Given the description of an element on the screen output the (x, y) to click on. 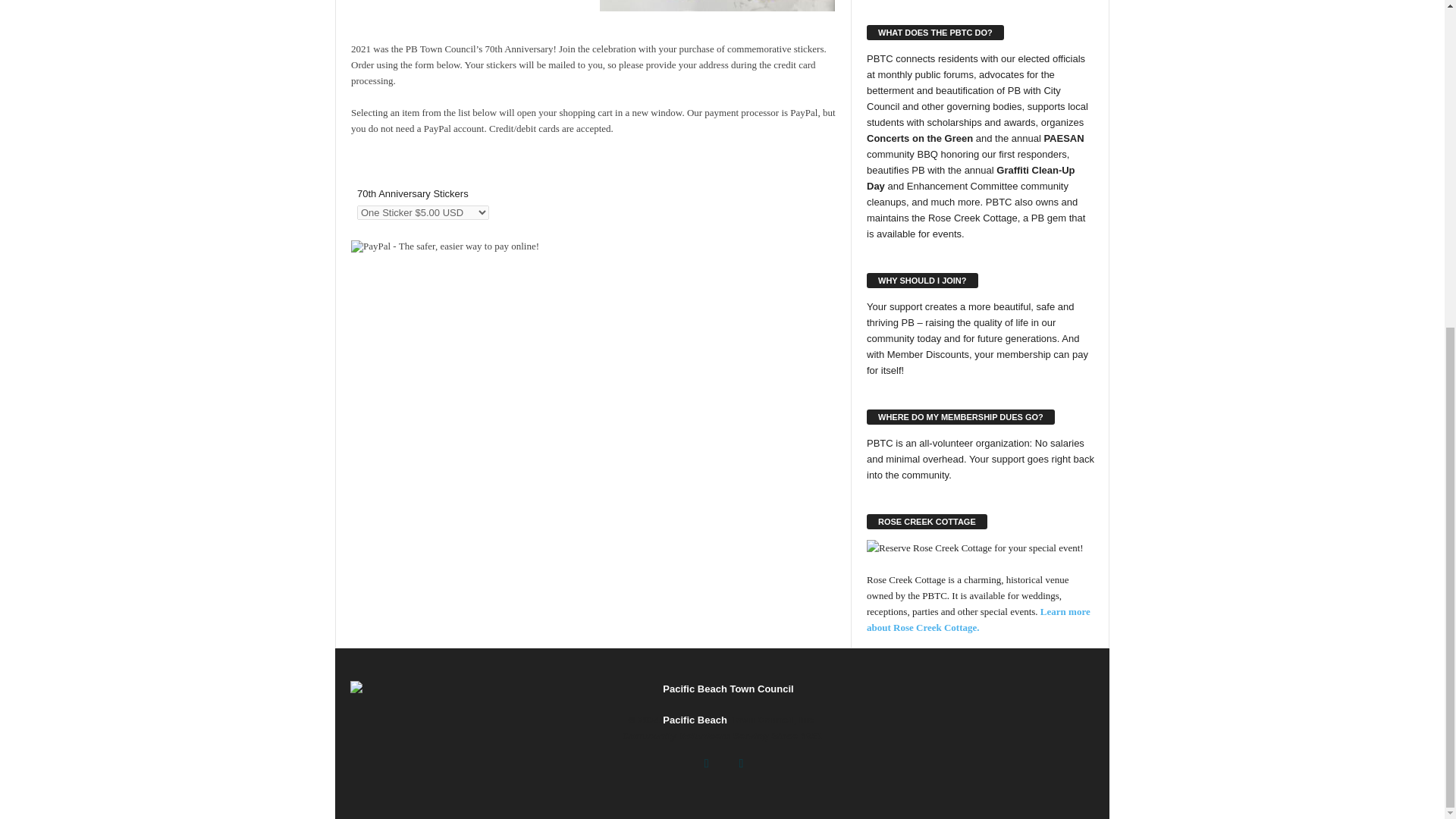
Pacific Beach Town Council (722, 688)
Facebook (705, 763)
Instagram (739, 763)
